Given the description of an element on the screen output the (x, y) to click on. 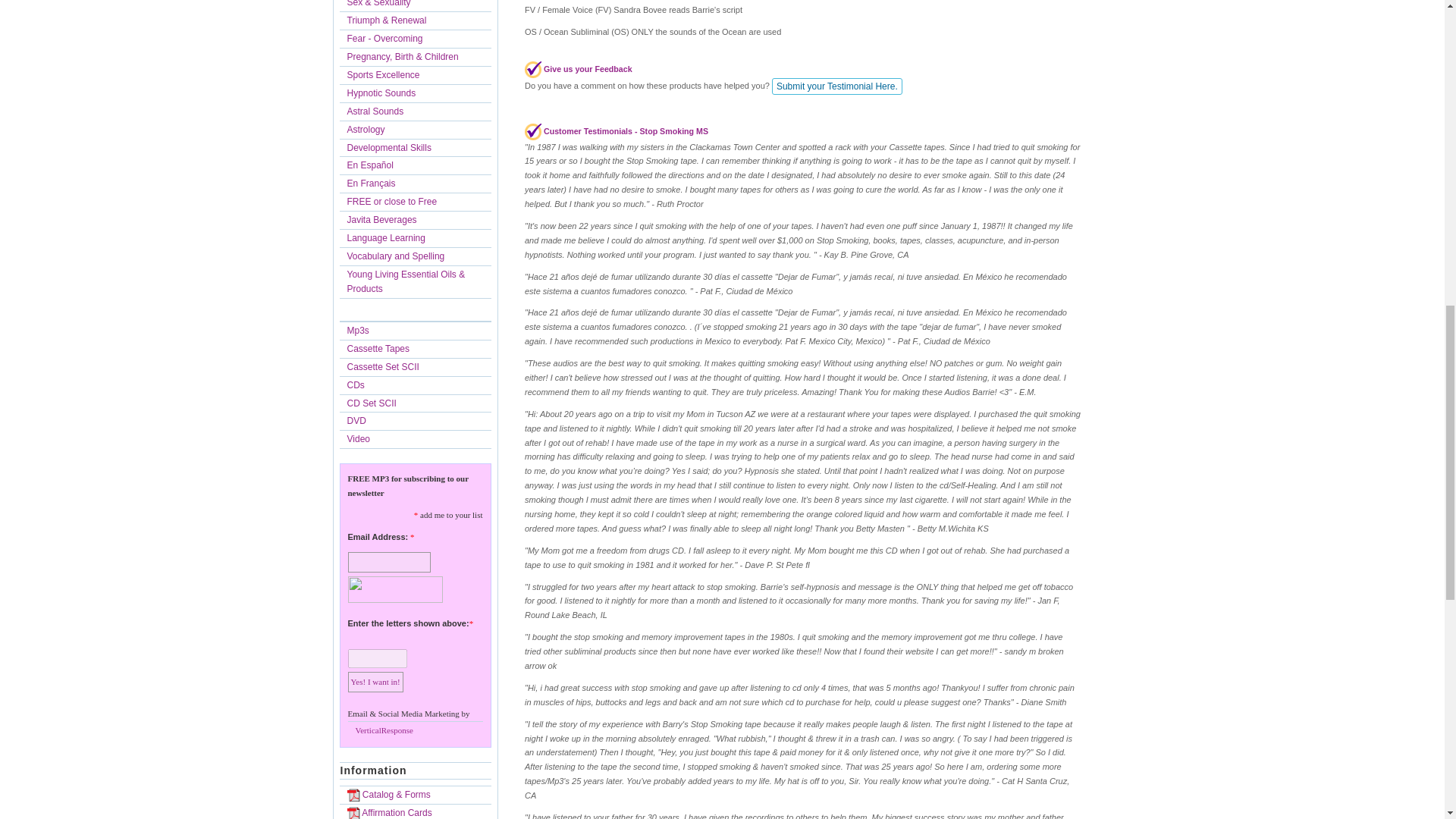
Yes! I want in! (375, 681)
